Given the description of an element on the screen output the (x, y) to click on. 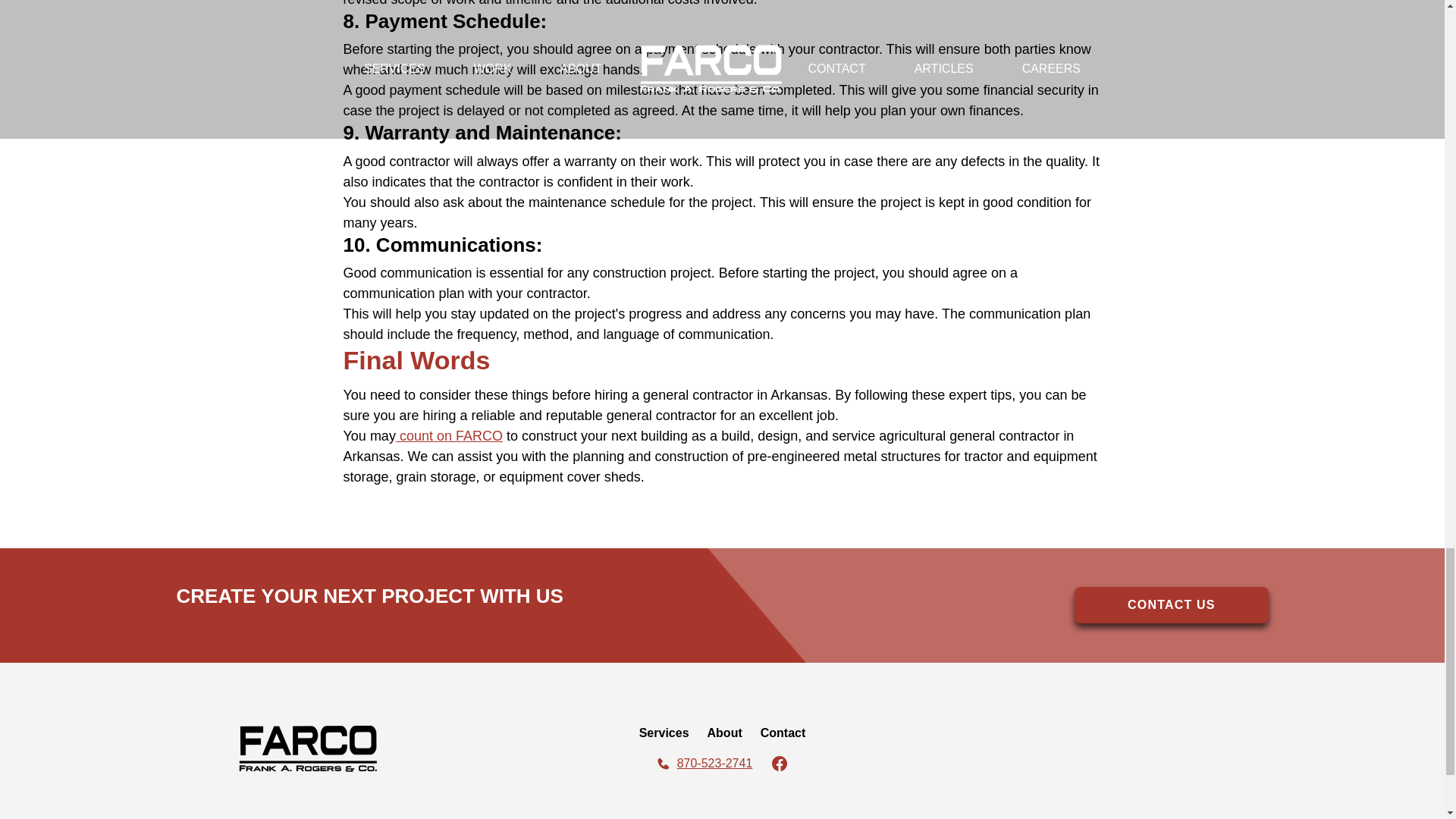
CONTACT US (1171, 605)
870-523-2741 (704, 763)
About (724, 732)
Contact (783, 732)
count on FARCO (449, 435)
Services (663, 732)
